Given the description of an element on the screen output the (x, y) to click on. 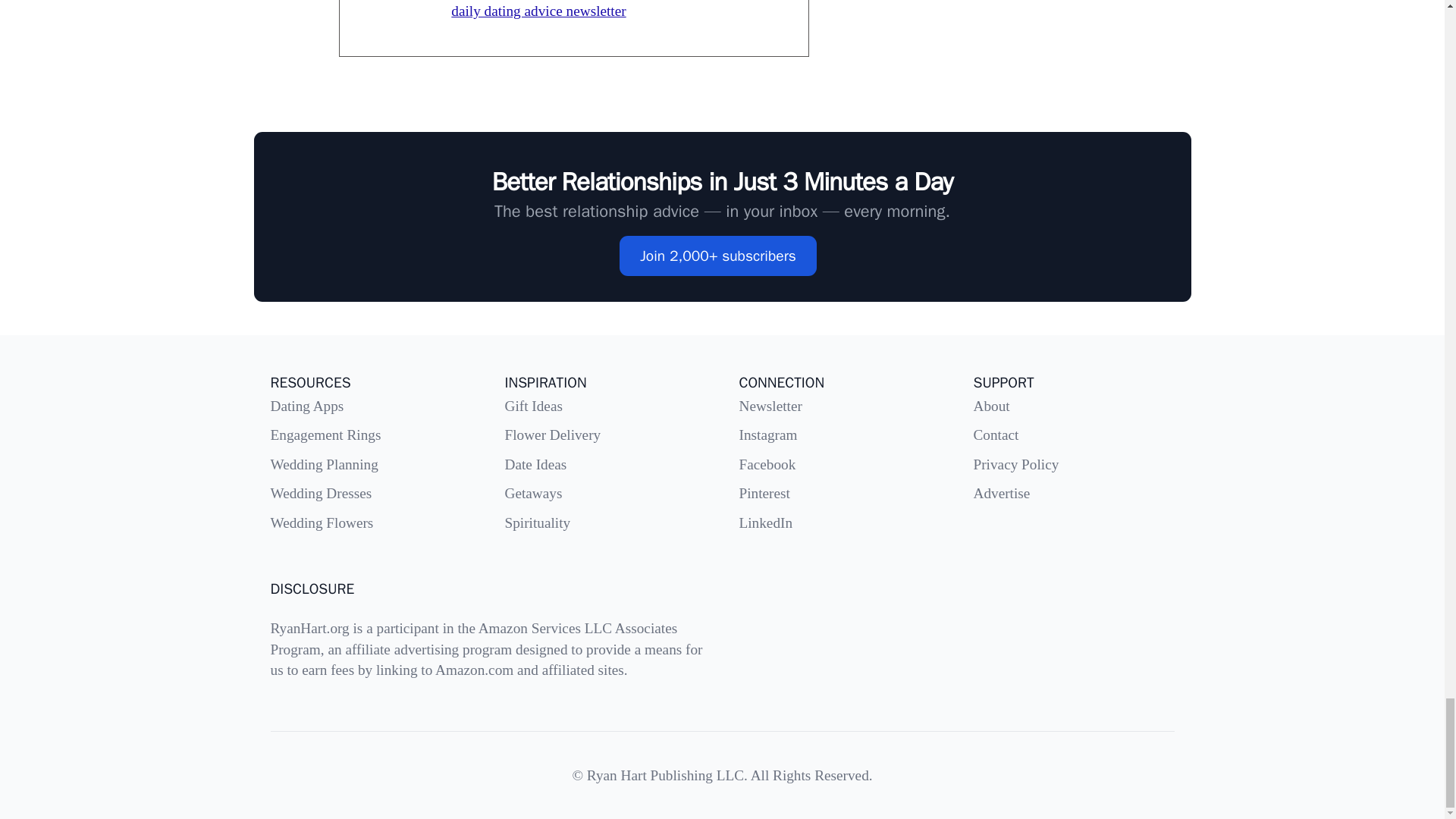
Contact (996, 434)
Gift Ideas (533, 406)
Facebook (766, 464)
Wedding Flowers (320, 522)
Instagram (767, 434)
About (992, 406)
Getaways (533, 493)
Pinterest (763, 493)
Wedding Dresses (320, 493)
Newsletter (770, 406)
Dating Apps (306, 406)
Wedding Planning (323, 464)
LinkedIn (765, 522)
Flower Delivery (553, 434)
Spirituality (537, 522)
